Given the description of an element on the screen output the (x, y) to click on. 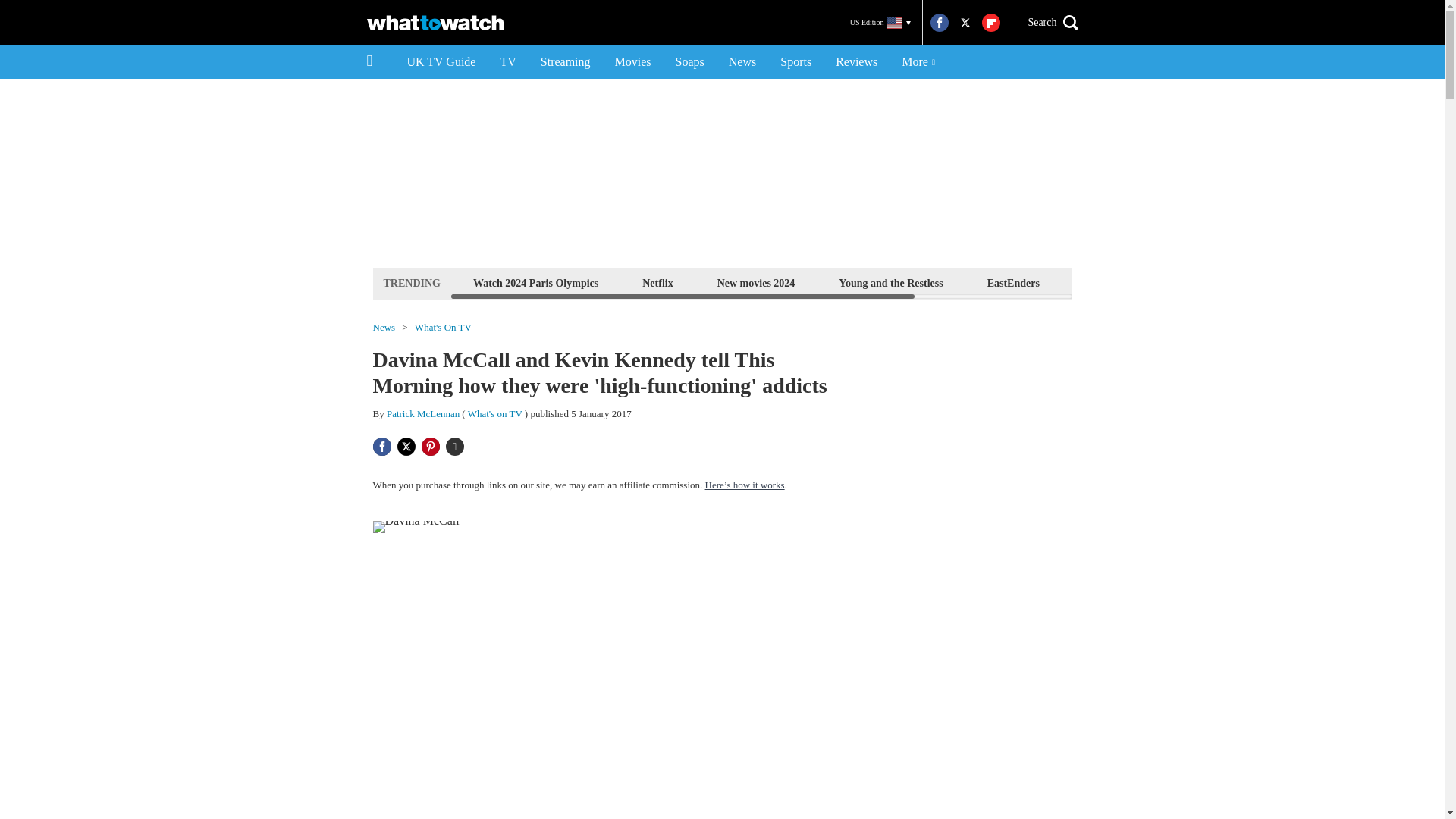
Reviews (856, 61)
UK TV Guide (440, 61)
TV (507, 61)
New movies 2024 (755, 282)
Soaps (689, 61)
EastEnders (1013, 282)
Watch 2024 Paris Olympics (535, 282)
Young and the Restless (889, 282)
Movies (632, 61)
Sports (796, 61)
Streaming (565, 61)
Netflix (657, 282)
What's on TV (494, 413)
Emmerdale (1109, 282)
News (742, 61)
